Given the description of an element on the screen output the (x, y) to click on. 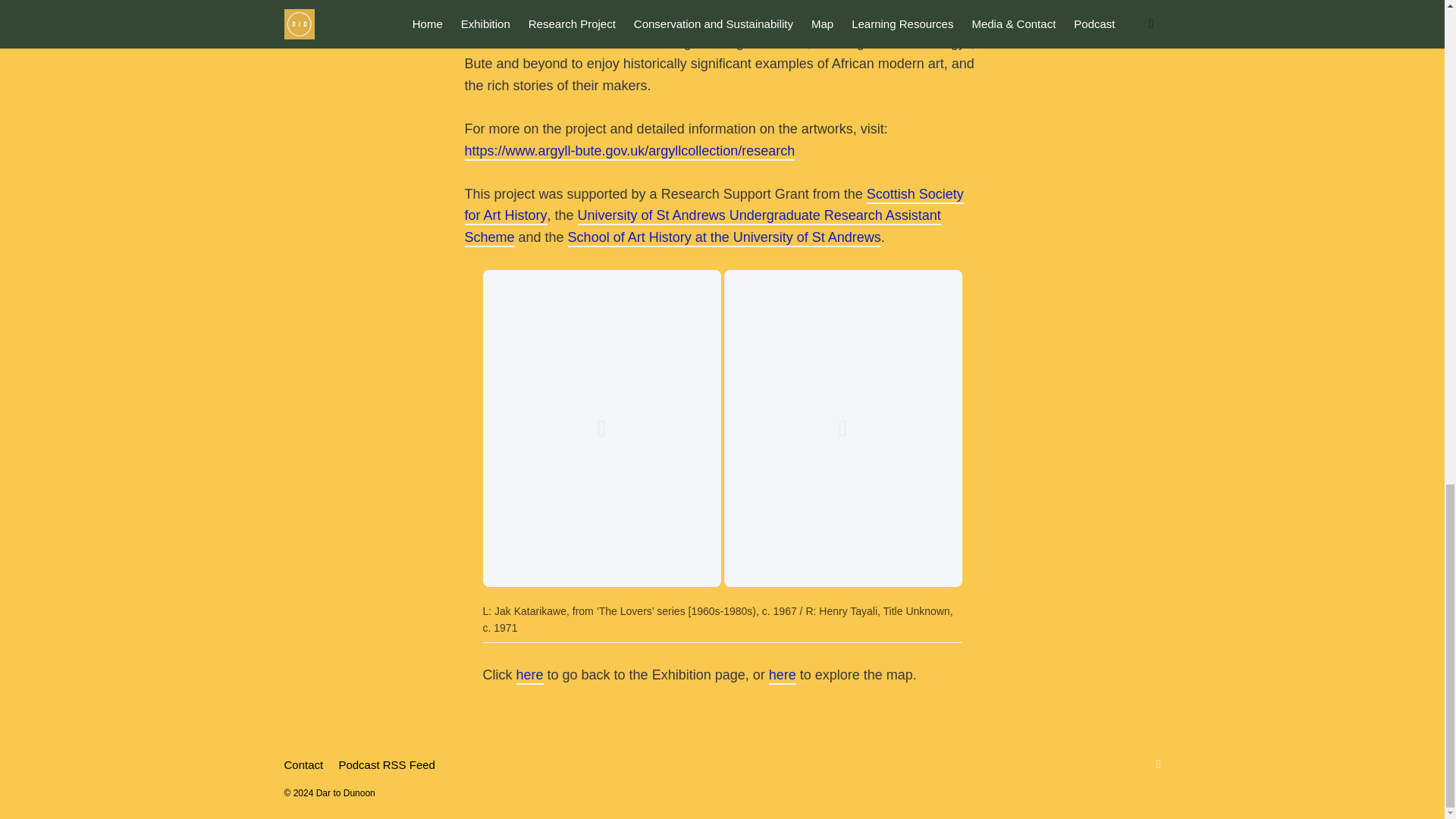
Podcast RSS Feed (386, 764)
here (782, 675)
here (529, 675)
School of Art History at the University of St Andrews (723, 238)
Scottish Society for Art History (713, 206)
Contact (303, 764)
